Given the description of an element on the screen output the (x, y) to click on. 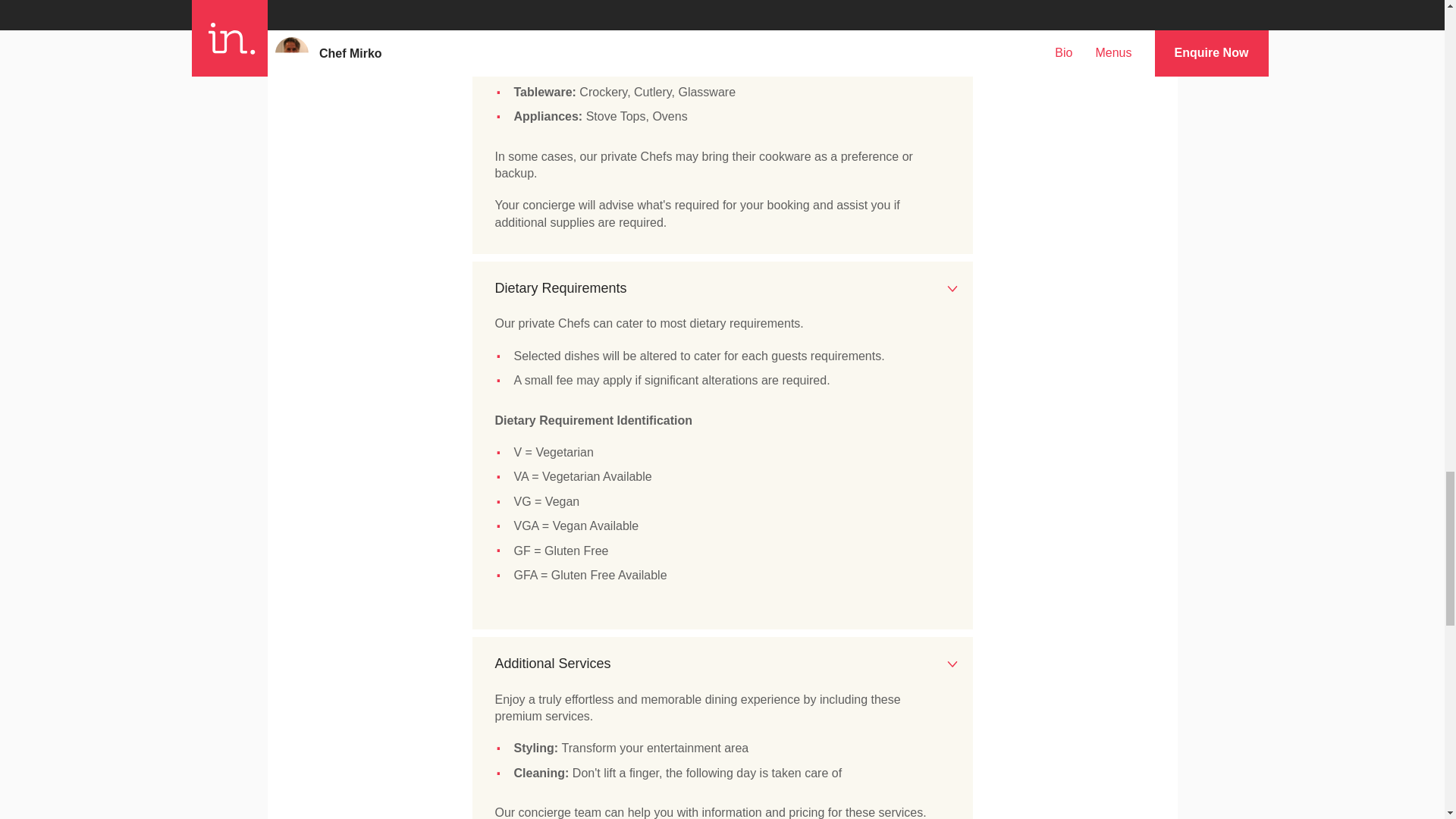
Dietary Requirements (721, 288)
Additional Services (721, 664)
Your Kitchen Requirements (721, 5)
